Given the description of an element on the screen output the (x, y) to click on. 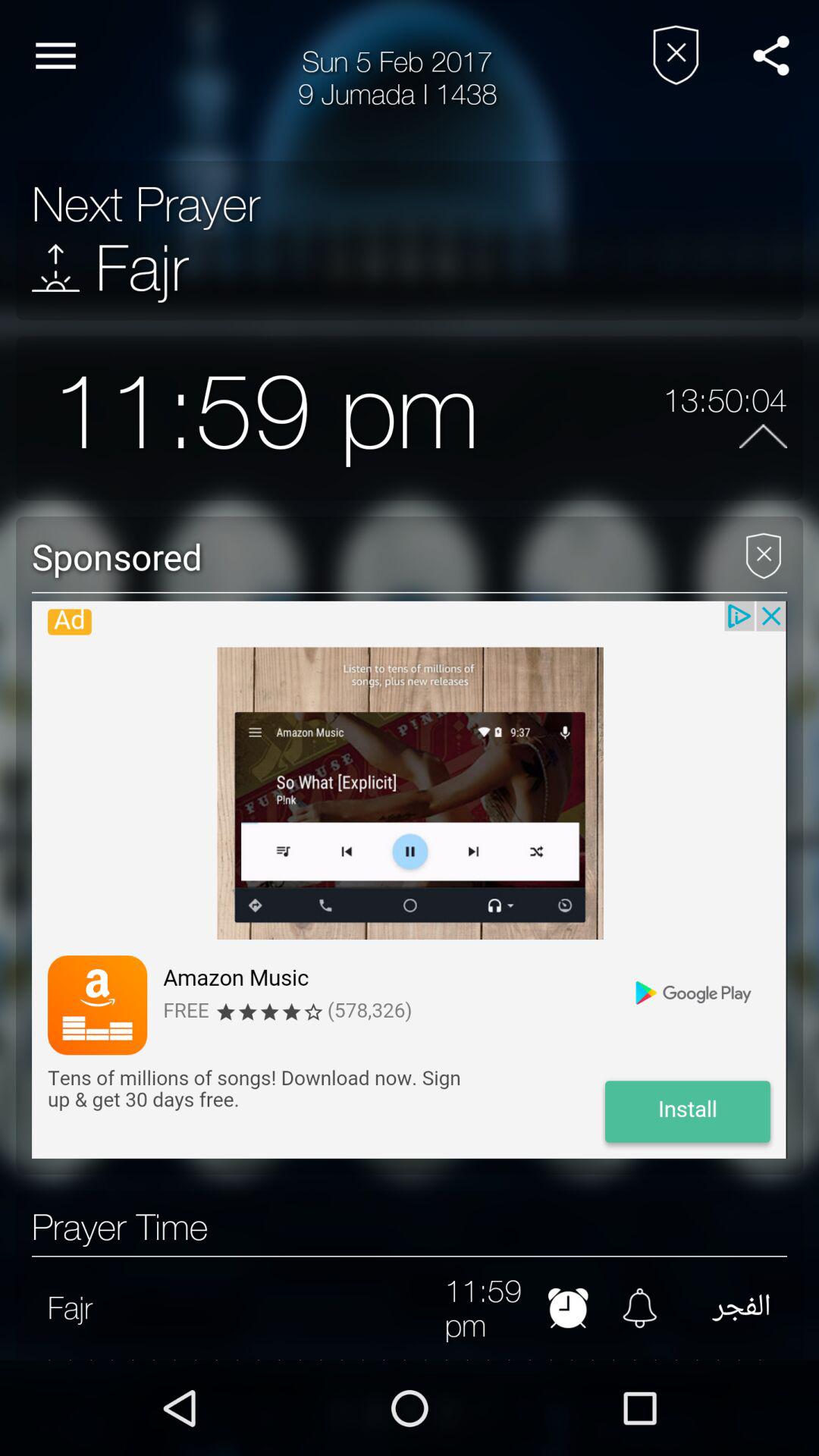
turn on the icon next to the 13:50:04 item (571, 417)
